Given the description of an element on the screen output the (x, y) to click on. 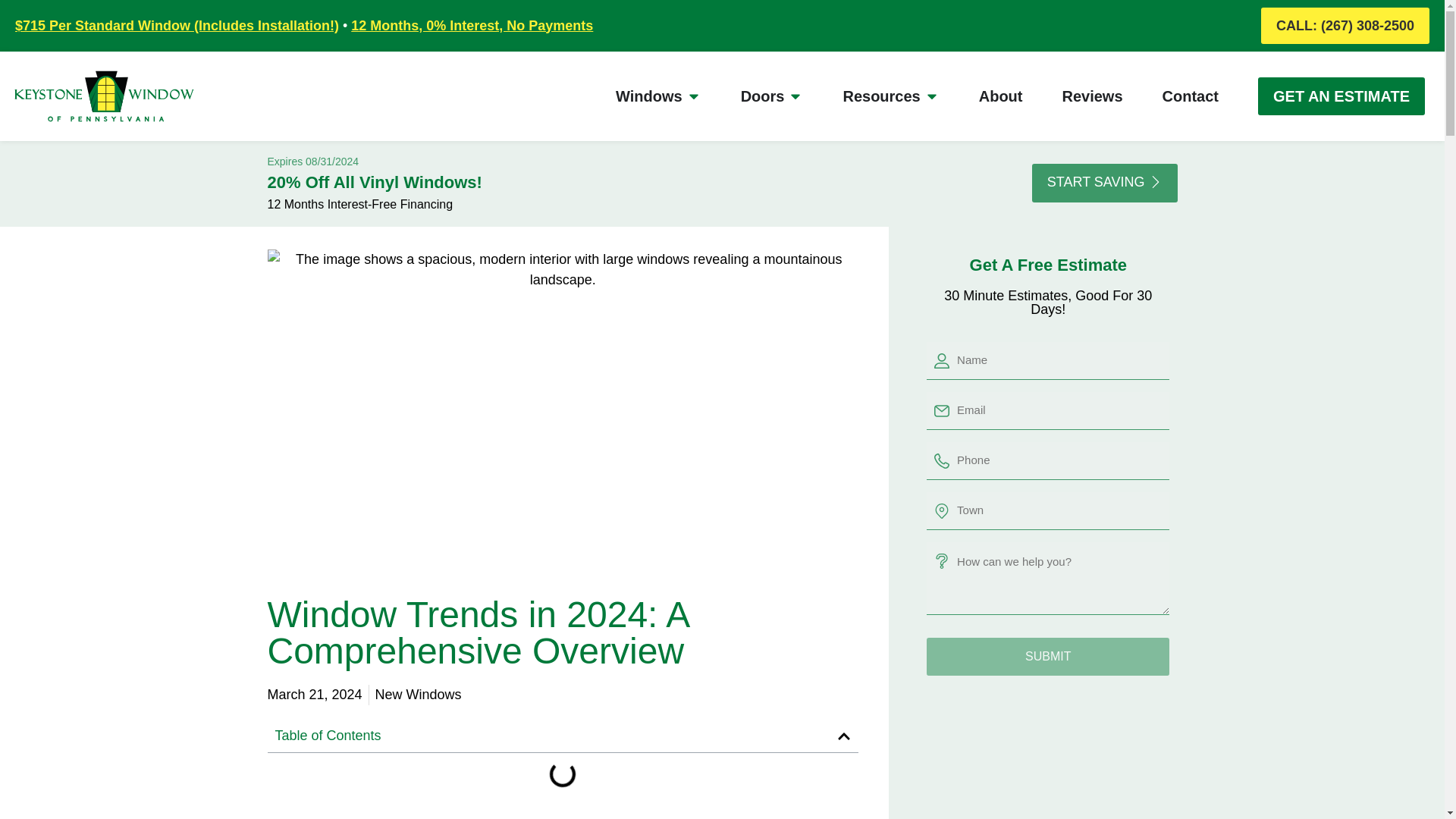
Contact (1189, 96)
Submit (1047, 656)
Windows (648, 96)
Reviews (1091, 96)
GET AN ESTIMATE (1341, 95)
About (1000, 96)
Doors (762, 96)
